Given the description of an element on the screen output the (x, y) to click on. 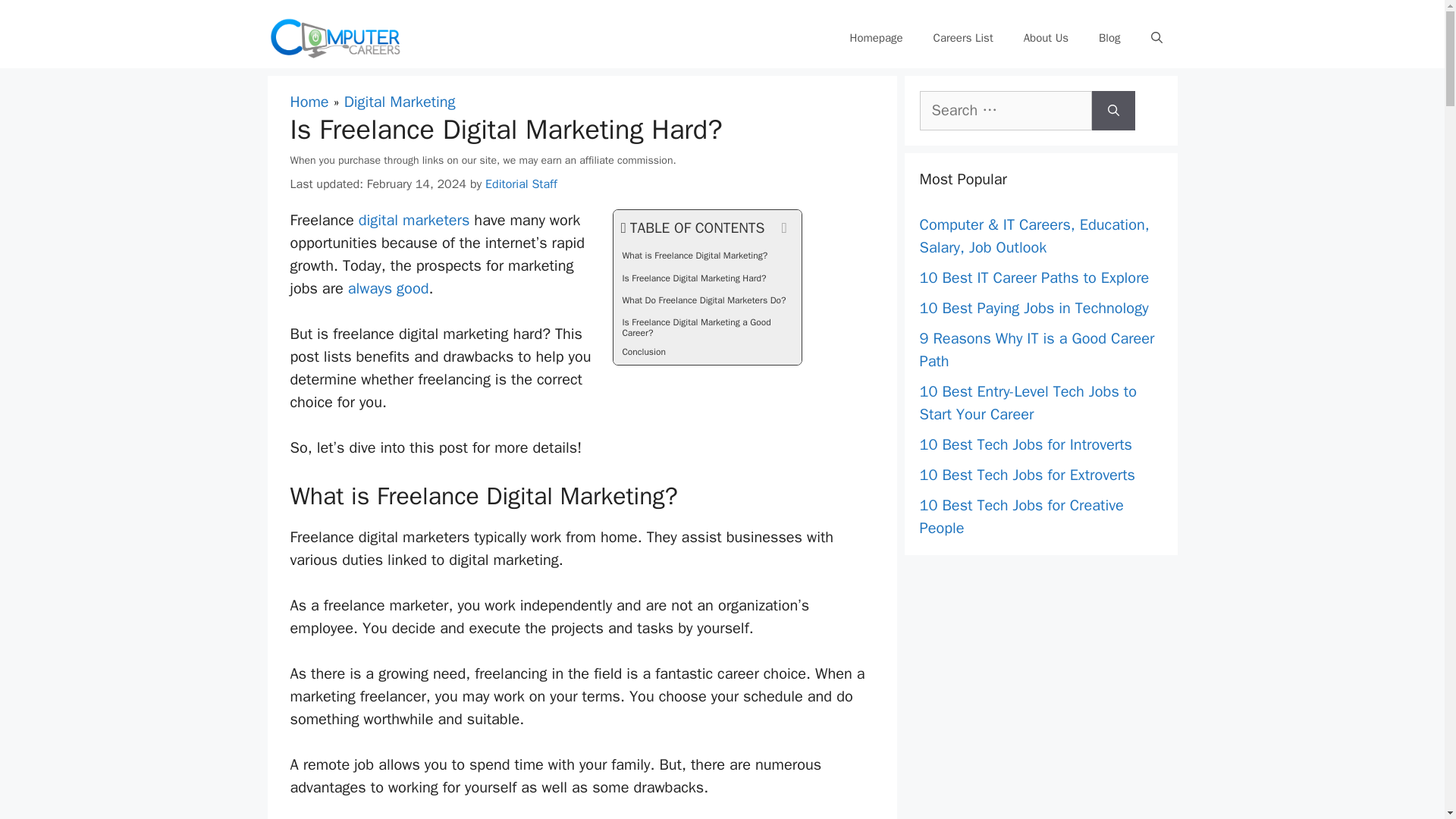
Digital Marketing (399, 101)
Homepage (875, 37)
Editorial Staff (520, 183)
What is Freelance Digital Marketing? (707, 257)
Home (309, 101)
View all posts by Editorial Staff (520, 183)
Search for: (1004, 110)
Careers List (963, 37)
About Us (1046, 37)
digital marketers (414, 220)
